Given the description of an element on the screen output the (x, y) to click on. 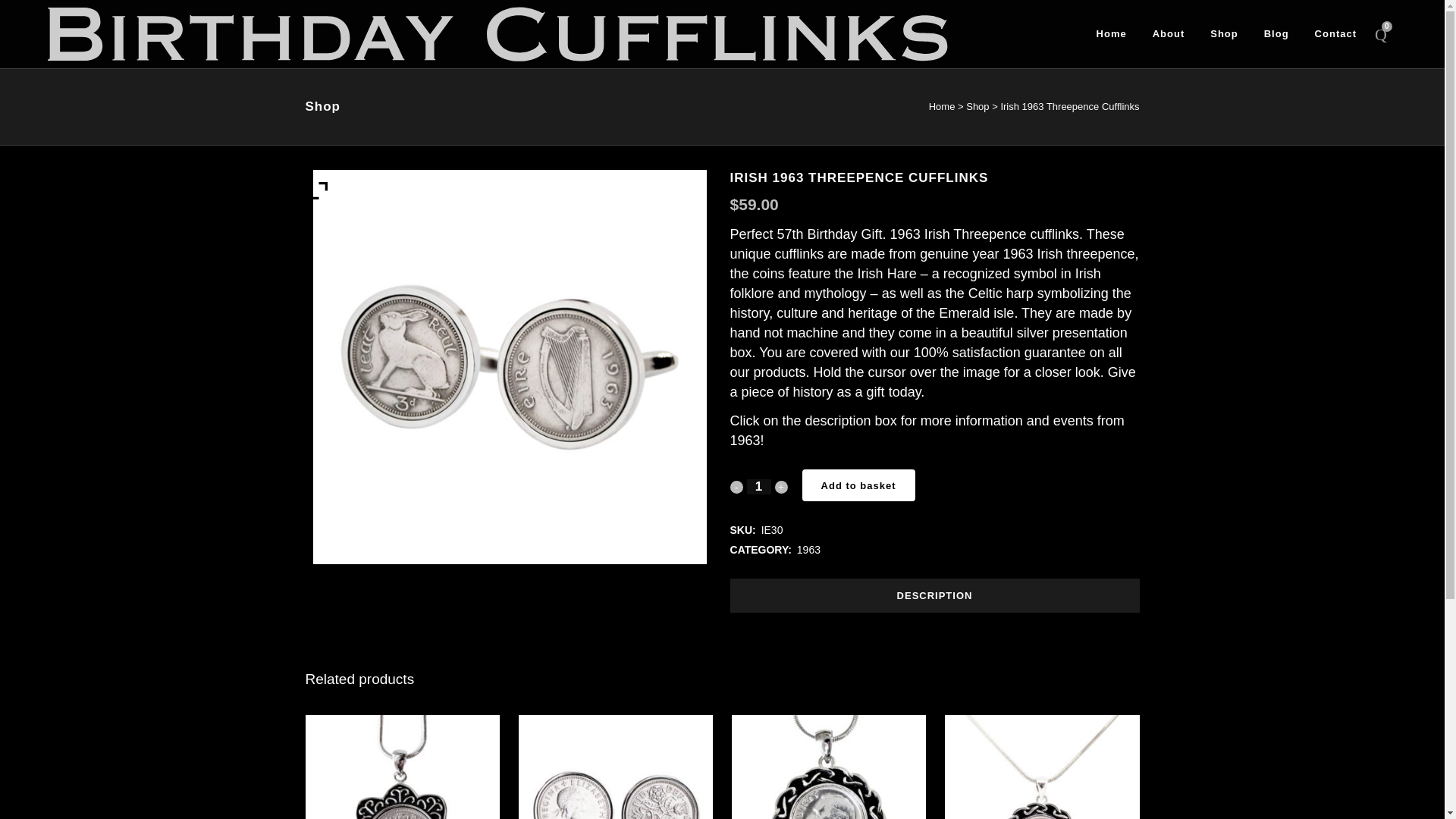
1 (758, 486)
- (736, 486)
Qty (758, 486)
Home (941, 106)
1963 (808, 549)
Add to basket (858, 485)
Contact (1335, 33)
Shop (977, 106)
